Given the description of an element on the screen output the (x, y) to click on. 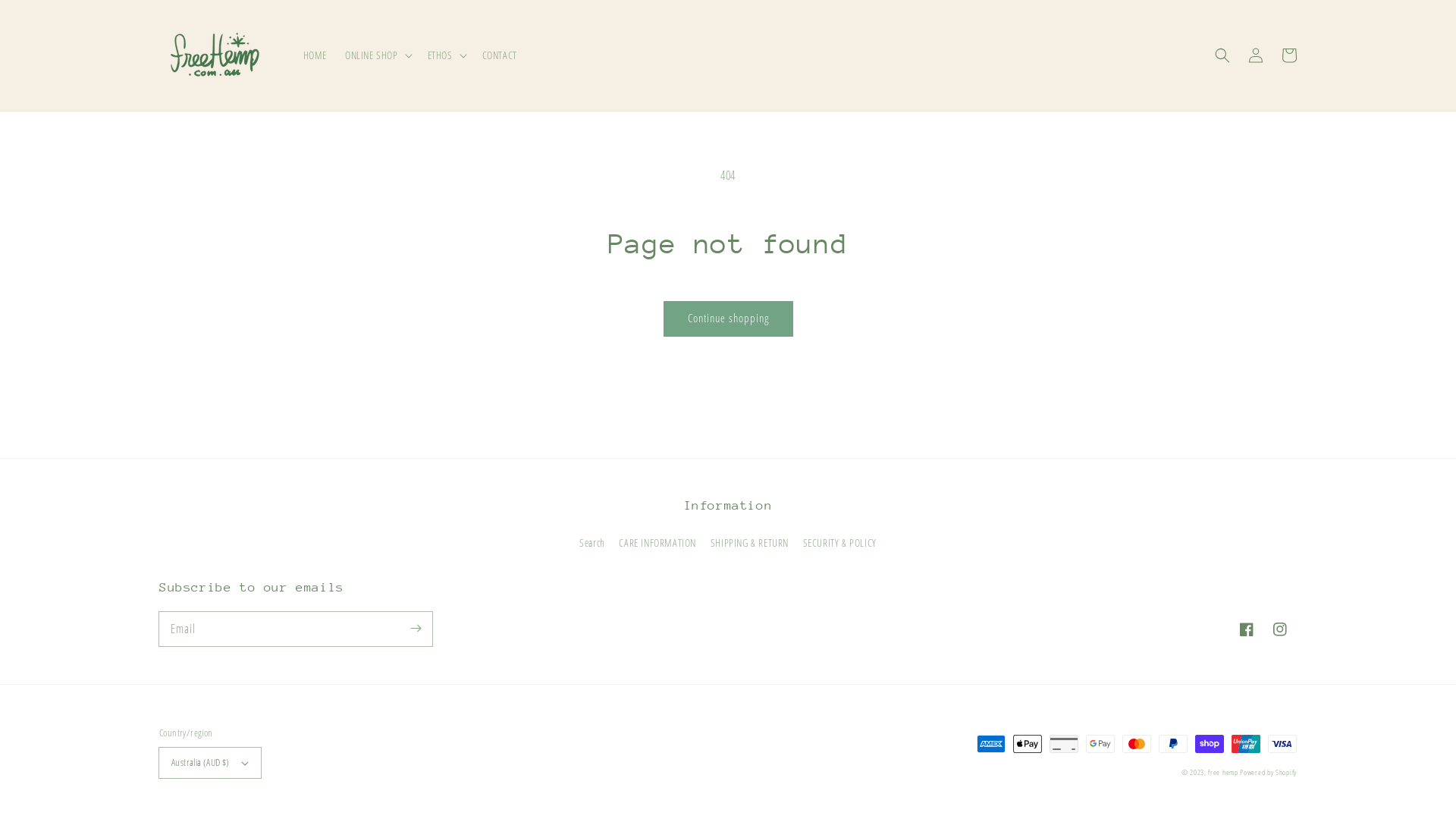
SECURITY & POLICY Element type: text (839, 542)
Instagram Element type: text (1279, 629)
HOME Element type: text (314, 55)
Continue shopping Element type: text (728, 318)
Log in Element type: text (1255, 55)
Facebook Element type: text (1246, 629)
Search Element type: text (592, 544)
CONTACT Element type: text (499, 55)
Australia (AUD $) Element type: text (209, 762)
free hemp Element type: text (1223, 771)
SHIPPING & RETURN Element type: text (749, 542)
CARE INFORMATION Element type: text (657, 542)
Powered by Shopify Element type: text (1267, 771)
Cart Element type: text (1288, 55)
